Given the description of an element on the screen output the (x, y) to click on. 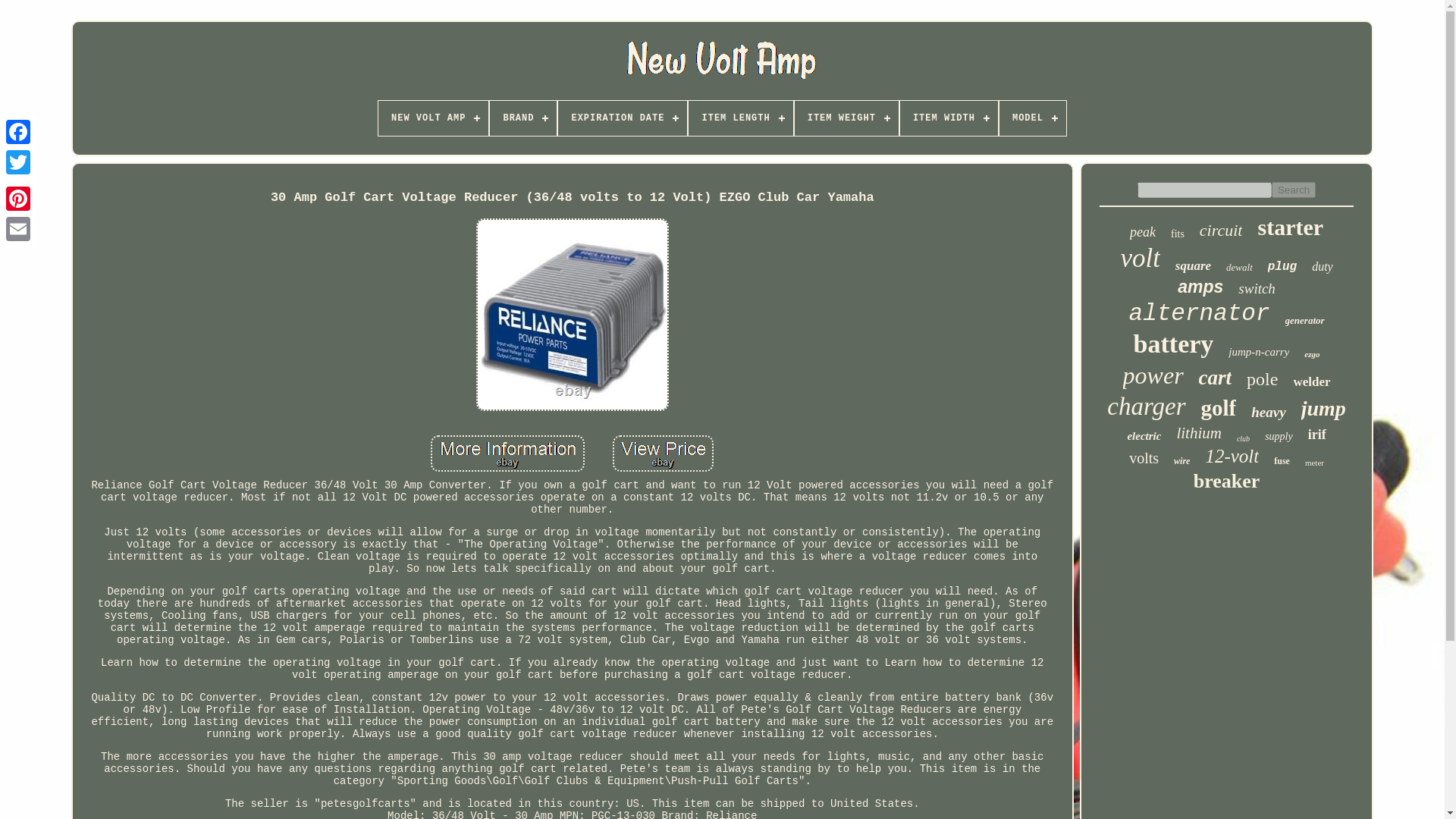
ITEM LENGTH (740, 117)
Search (1293, 189)
EXPIRATION DATE (622, 117)
BRAND (522, 117)
NEW VOLT AMP (432, 117)
